Given the description of an element on the screen output the (x, y) to click on. 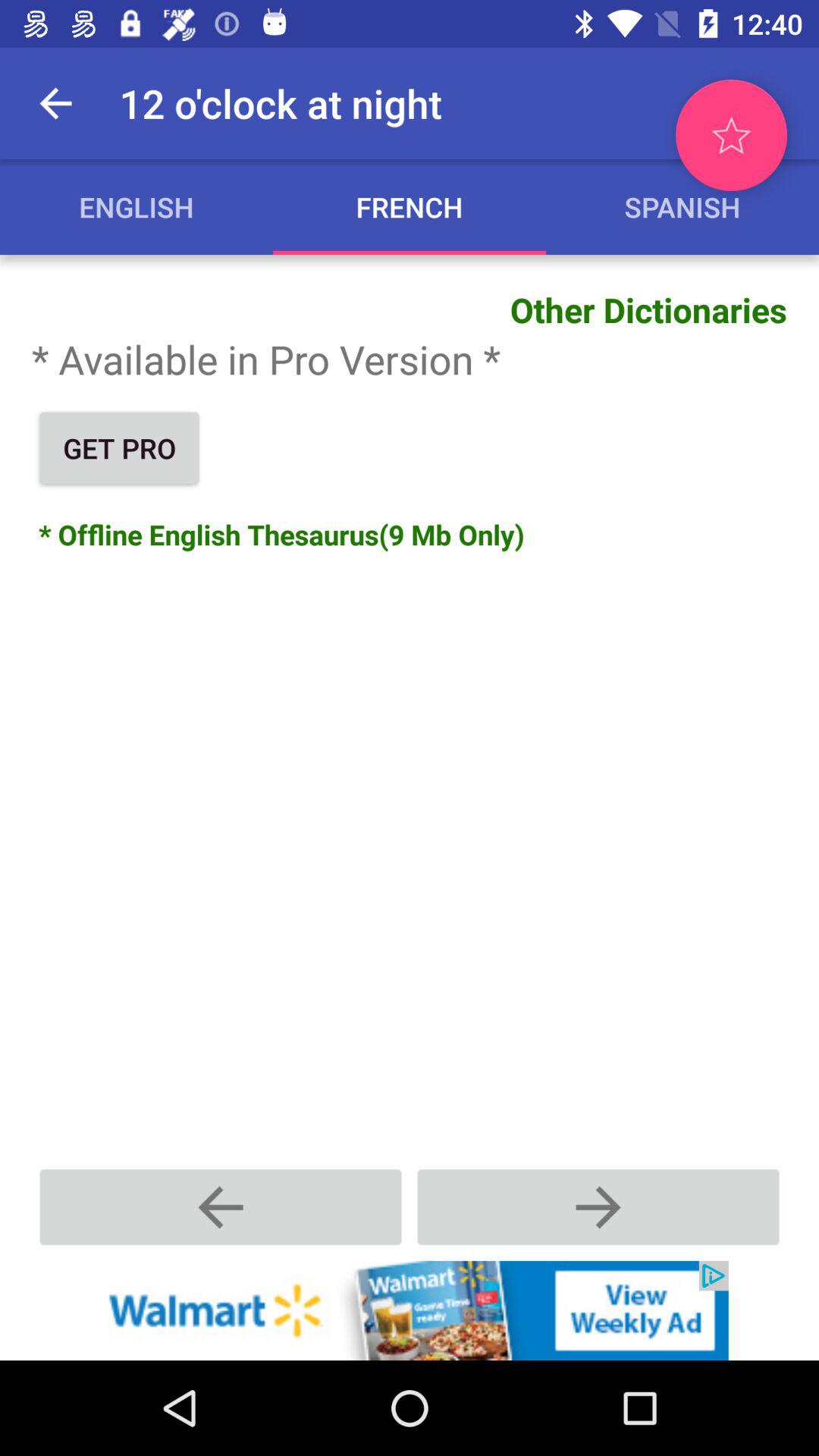
adiveristment (409, 1310)
